Given the description of an element on the screen output the (x, y) to click on. 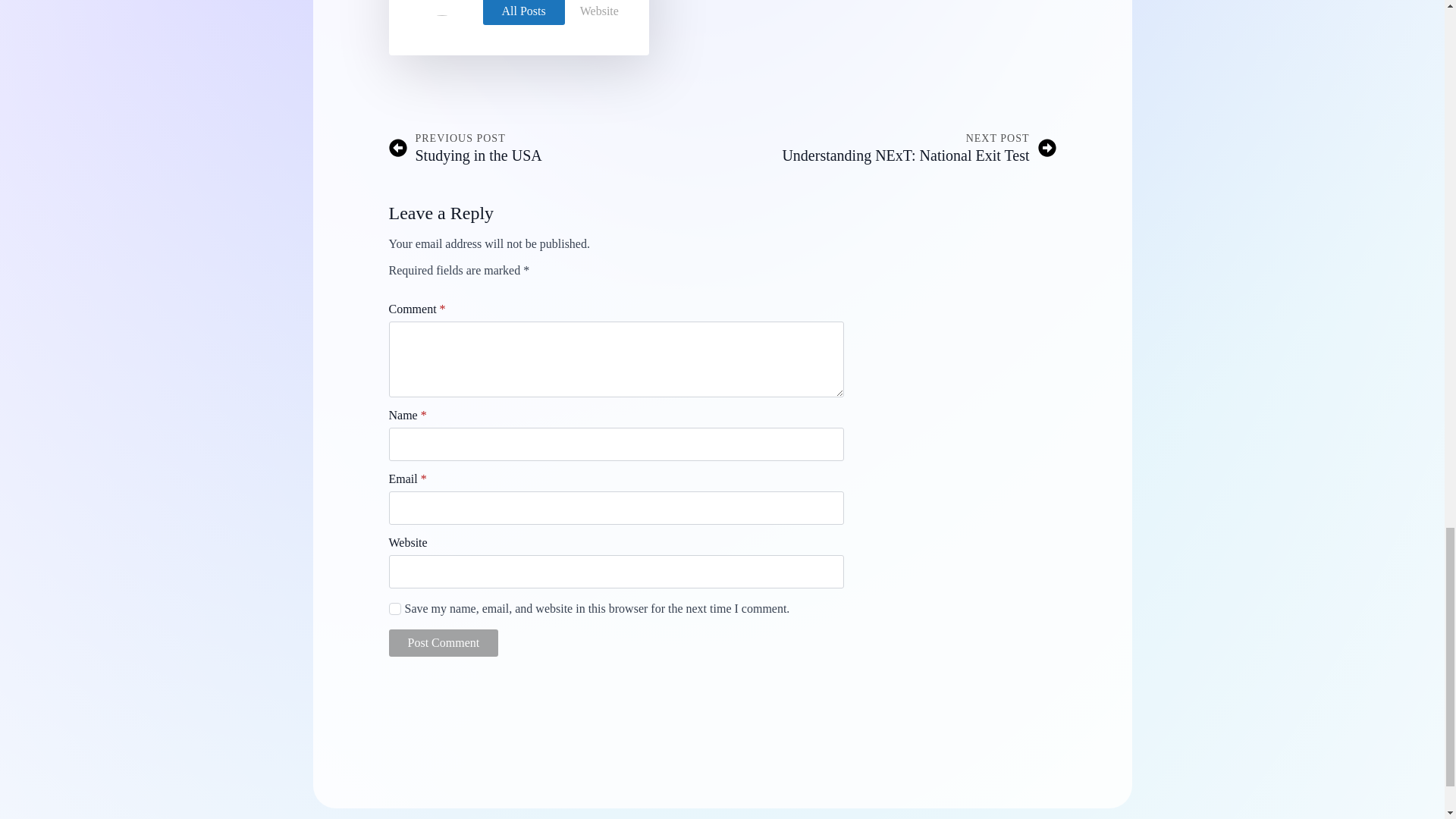
Website (598, 12)
Post Comment (892, 147)
Post Comment (442, 642)
All Posts (551, 147)
yes (442, 642)
